Given the description of an element on the screen output the (x, y) to click on. 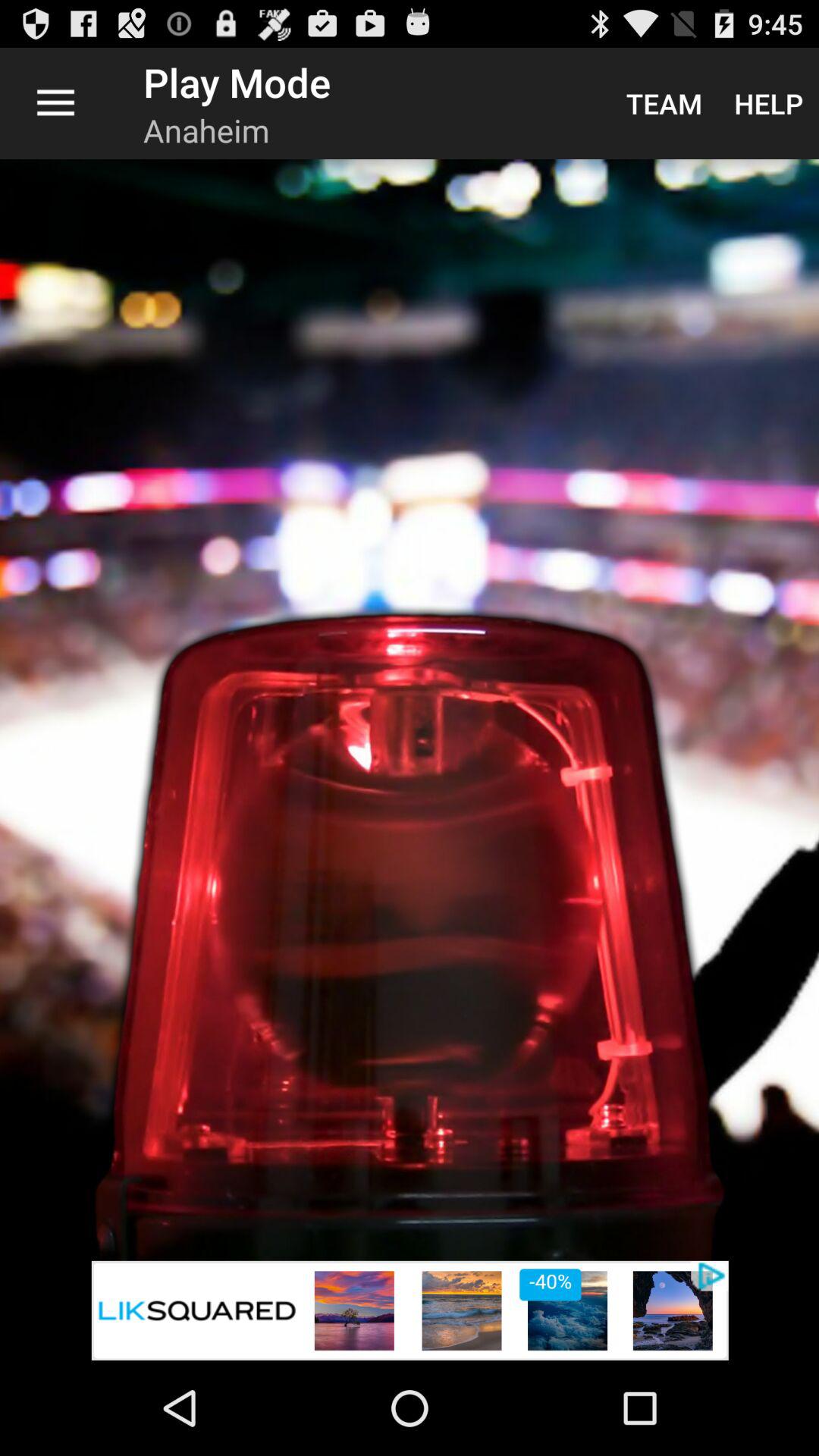
press the icon to the left of play mode app (55, 103)
